Given the description of an element on the screen output the (x, y) to click on. 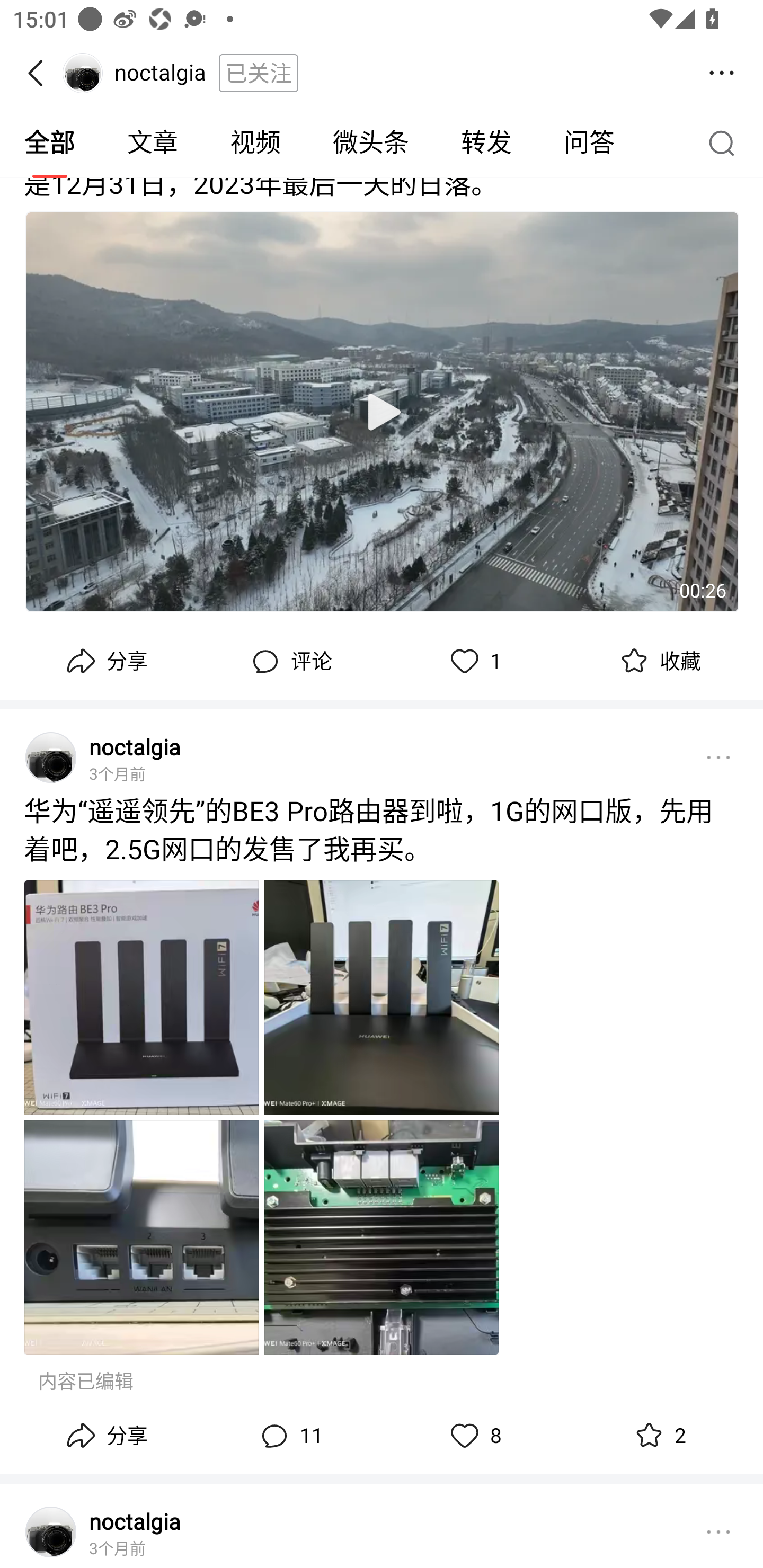
返回 (41, 72)
更多操作 (721, 72)
已关注 (258, 72)
全部 (50, 143)
文章 (152, 143)
视频 (254, 143)
微头条 (370, 143)
转发 (485, 143)
问答 (588, 143)
搜索 (726, 142)
00:26 (382, 412)
分享 (104, 661)
评论, 评论 (288, 661)
,收藏 收藏 (658, 661)
noctalgia (134, 747)
noctalgia头像 (50, 757)
更多 (718, 757)
内容图片1，点击识别 (141, 996)
内容图片2，点击识别 (381, 996)
内容图片3，点击识别 (141, 1236)
内容图片4，点击识别 (381, 1236)
内容已编辑 (85, 1381)
分享 (104, 1435)
评论,11 11 (288, 1435)
收藏,2 2 (658, 1435)
noctalgia (134, 1520)
noctalgia头像 (50, 1531)
更多 (718, 1531)
